Given the description of an element on the screen output the (x, y) to click on. 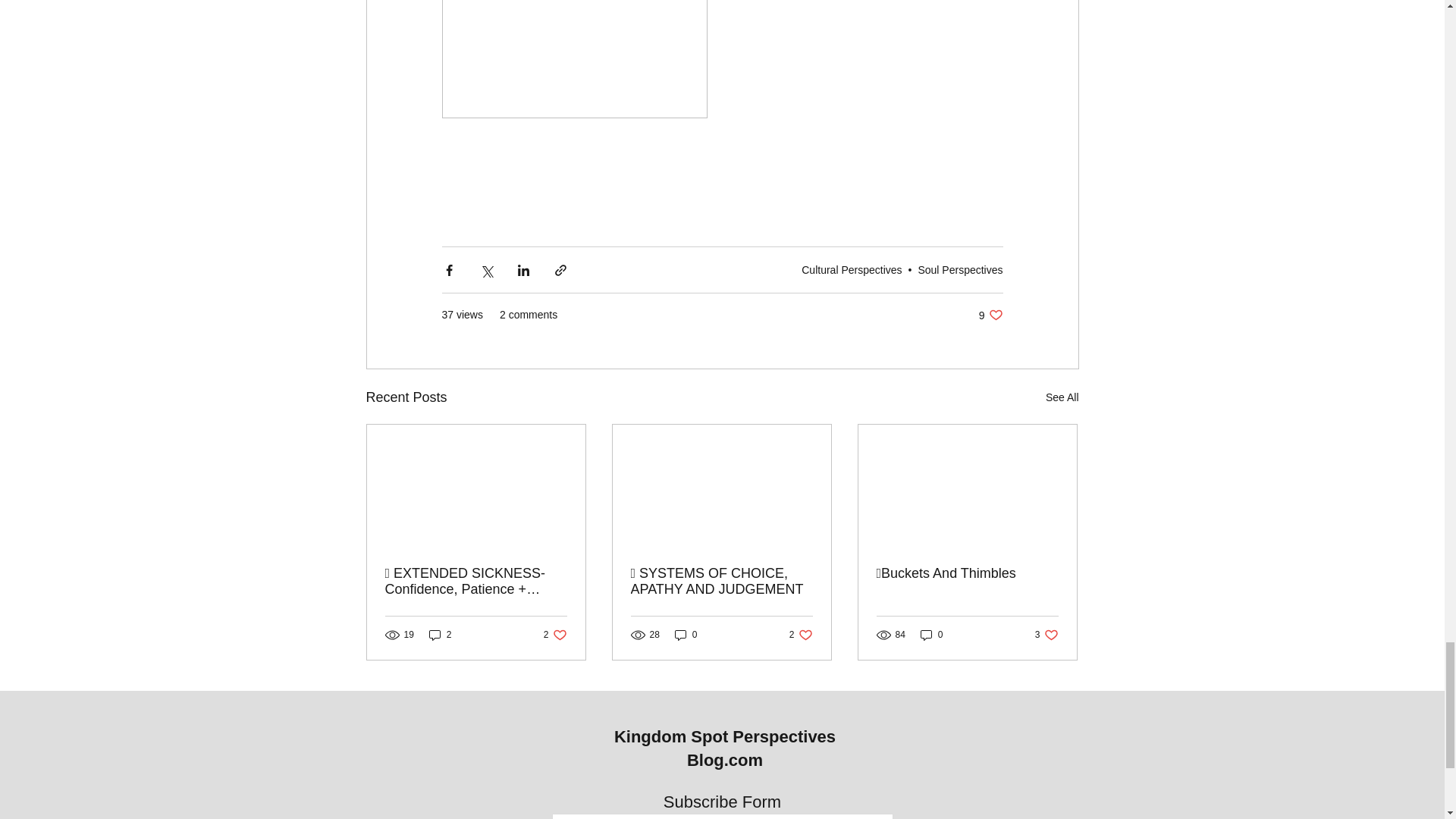
Cultural Perspectives (851, 269)
See All (1061, 397)
2 (440, 635)
Soul Perspectives (555, 635)
